Given the description of an element on the screen output the (x, y) to click on. 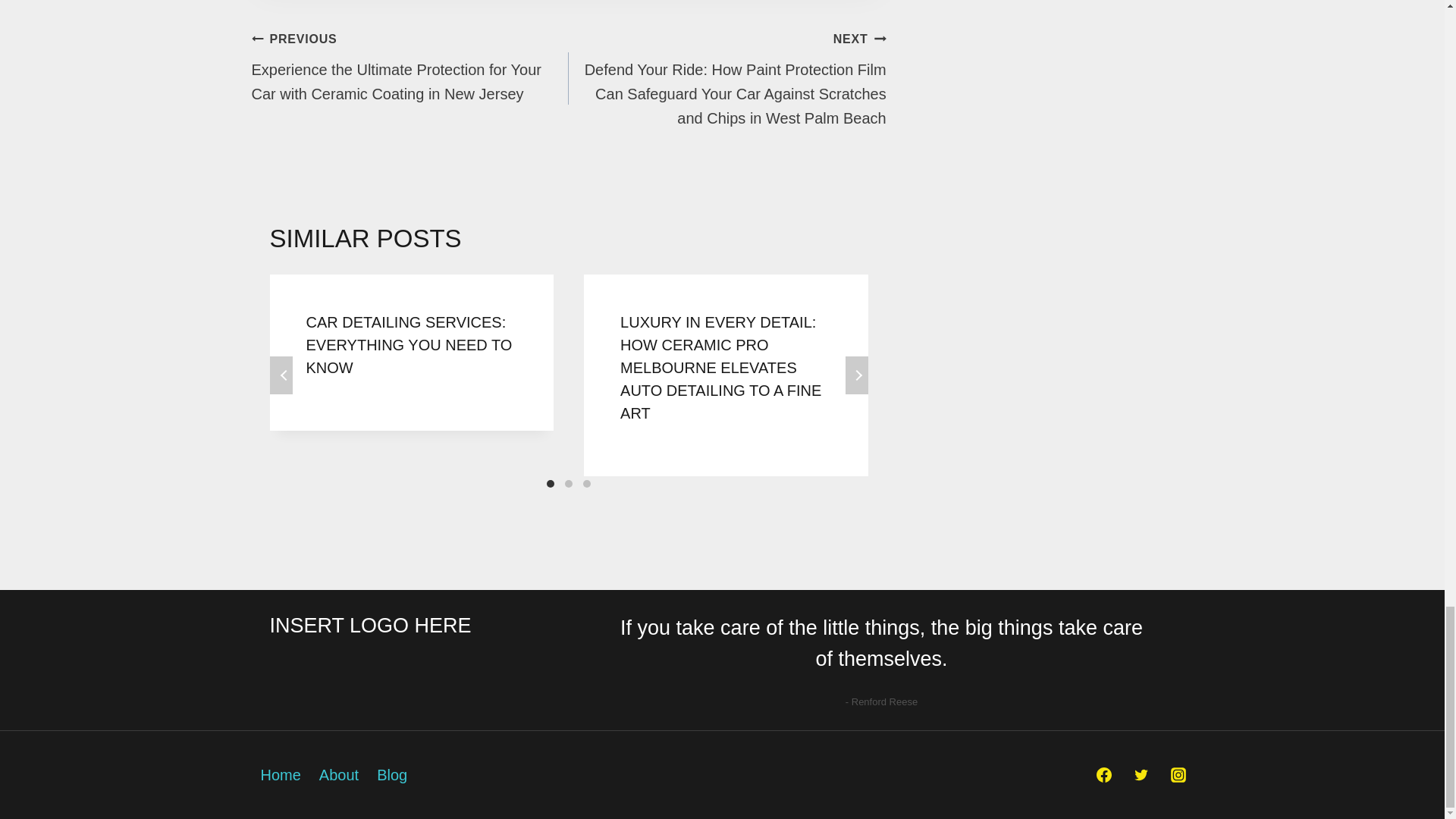
CAR DETAILING SERVICES: EVERYTHING YOU NEED TO KNOW (408, 344)
